Given the description of an element on the screen output the (x, y) to click on. 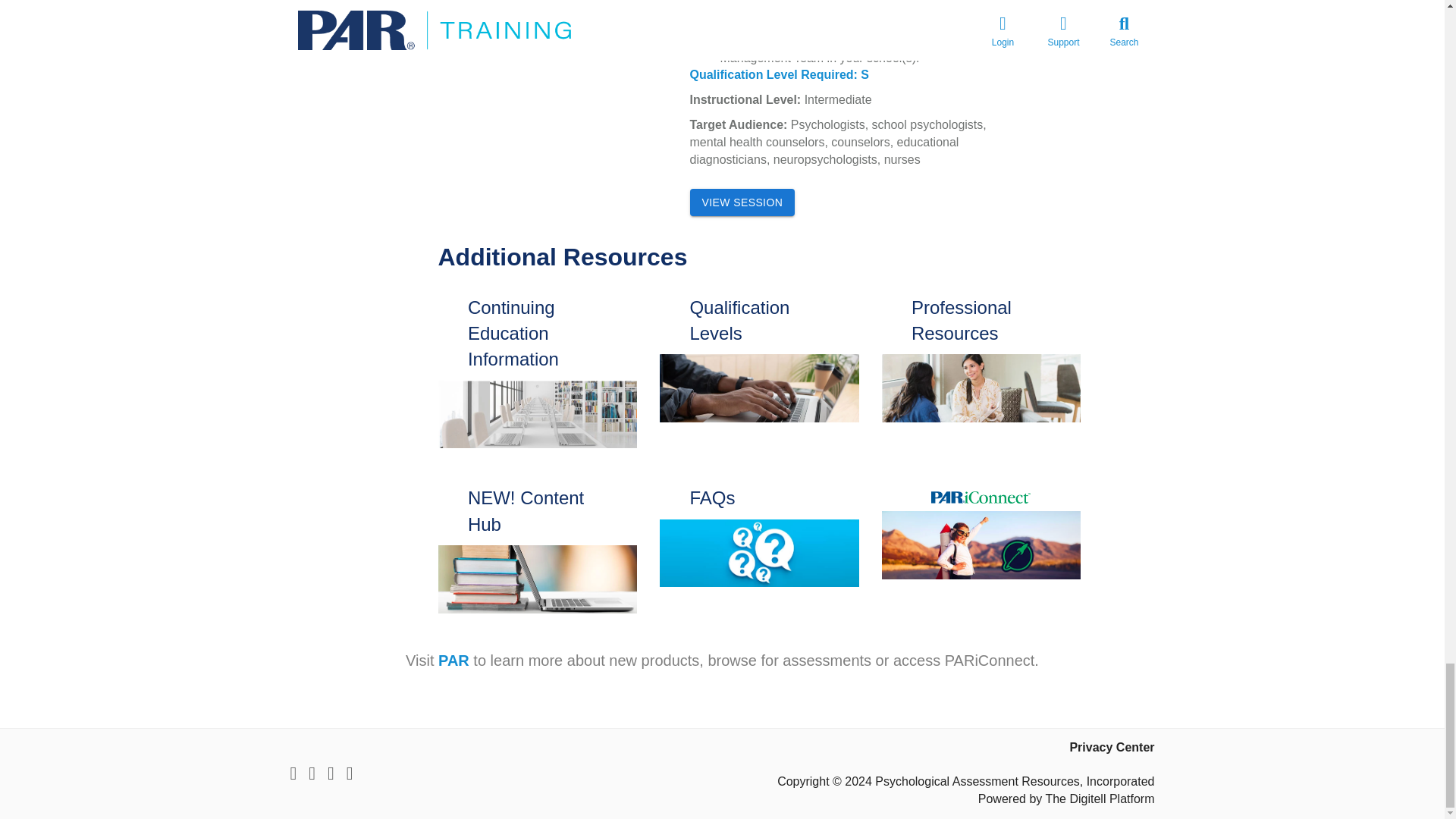
custom image (537, 579)
Qualification Level Required: S (779, 74)
custom image (537, 414)
custom image (980, 545)
VIEW SESSION (742, 203)
custom image (759, 553)
PARiConnect (980, 497)
custom image (759, 387)
custom image (980, 387)
